Given the description of an element on the screen output the (x, y) to click on. 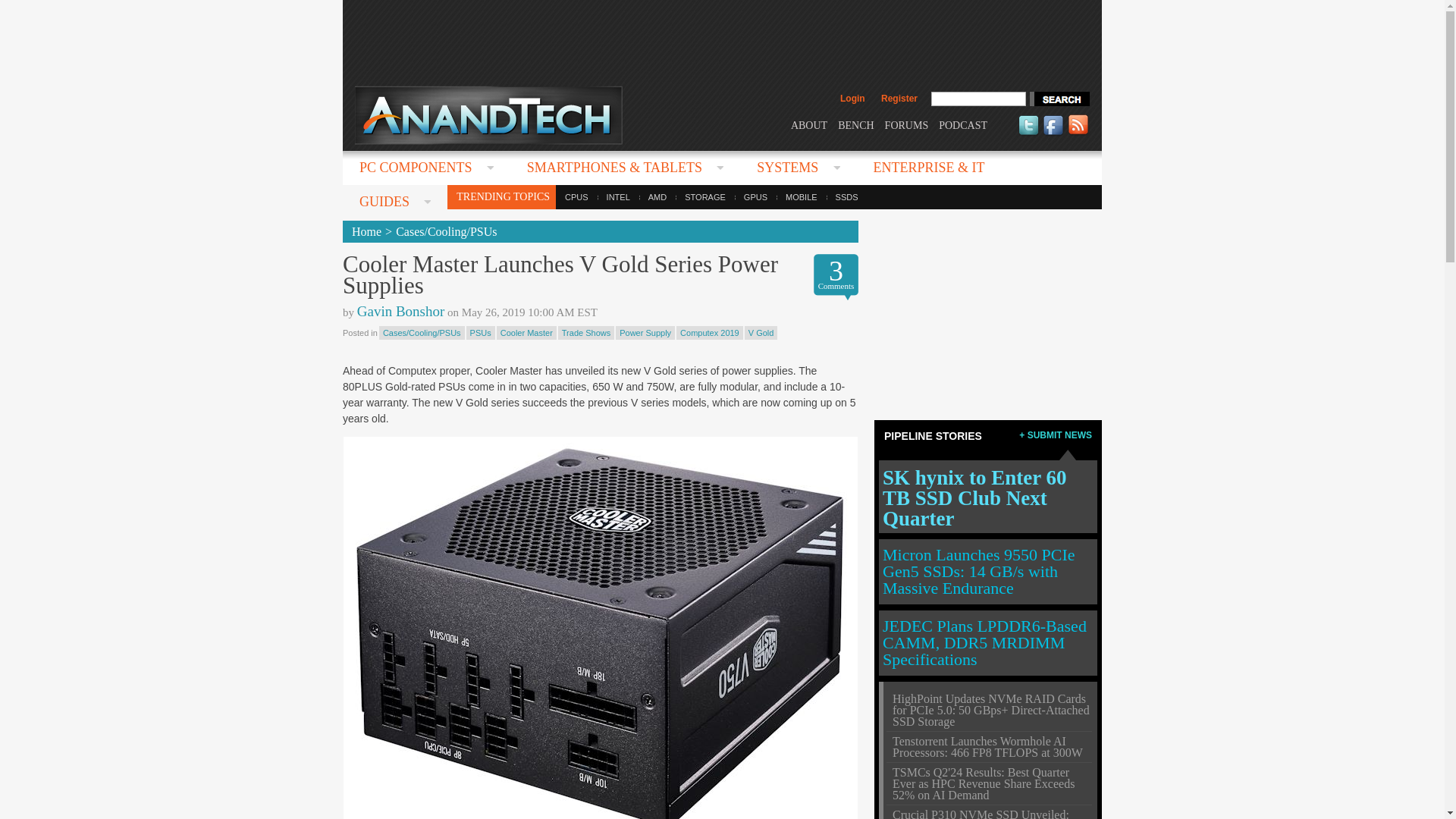
Login (852, 98)
FORUMS (906, 125)
Register (898, 98)
ABOUT (808, 125)
BENCH (855, 125)
search (1059, 98)
PODCAST (963, 125)
search (1059, 98)
search (1059, 98)
